Given the description of an element on the screen output the (x, y) to click on. 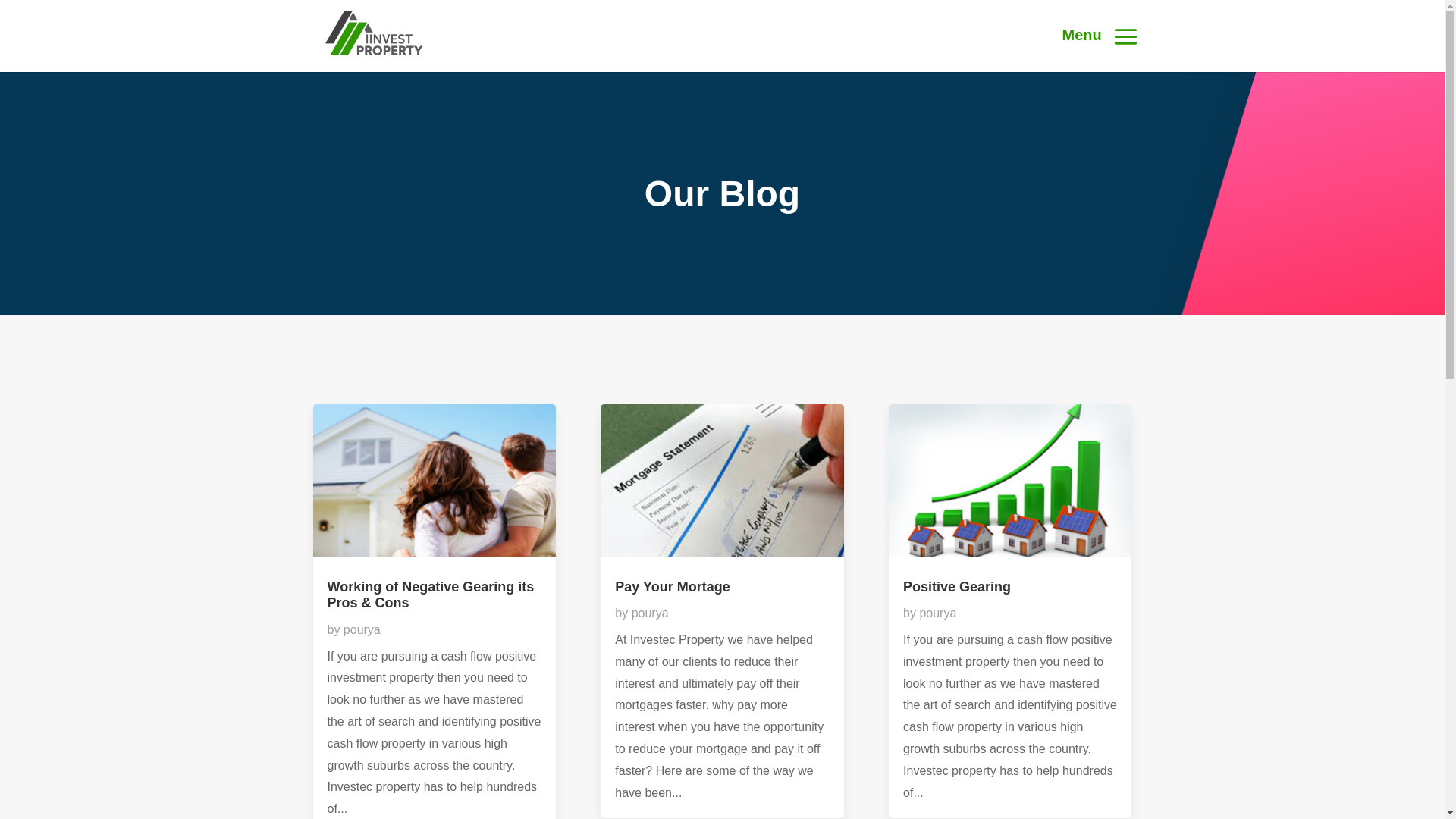
pourya Element type: text (937, 612)
pourya Element type: text (649, 612)
Positive Gearing Element type: text (956, 586)
Pay Your Mortage Element type: text (672, 586)
pourya Element type: text (361, 629)
Working of Negative Gearing its Pros & Cons Element type: text (430, 595)
